Given the description of an element on the screen output the (x, y) to click on. 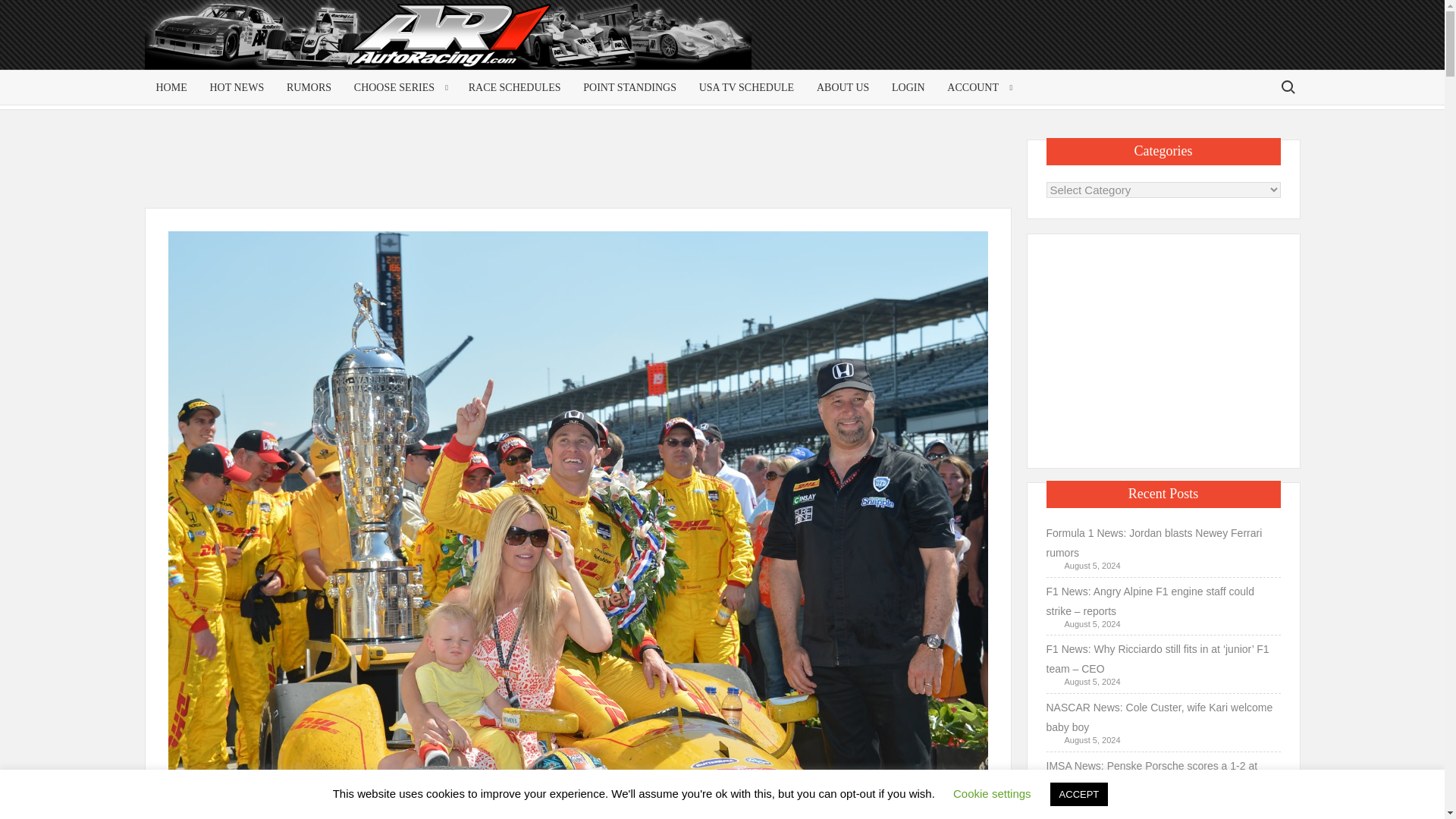
AUTORACING1.COM (289, 40)
Advertisement (580, 173)
Advertisement (1178, 46)
RUMORS (308, 87)
Advertisement (1162, 348)
HOME (171, 87)
CHOOSE SERIES (399, 87)
HOT NEWS (236, 87)
